Given the description of an element on the screen output the (x, y) to click on. 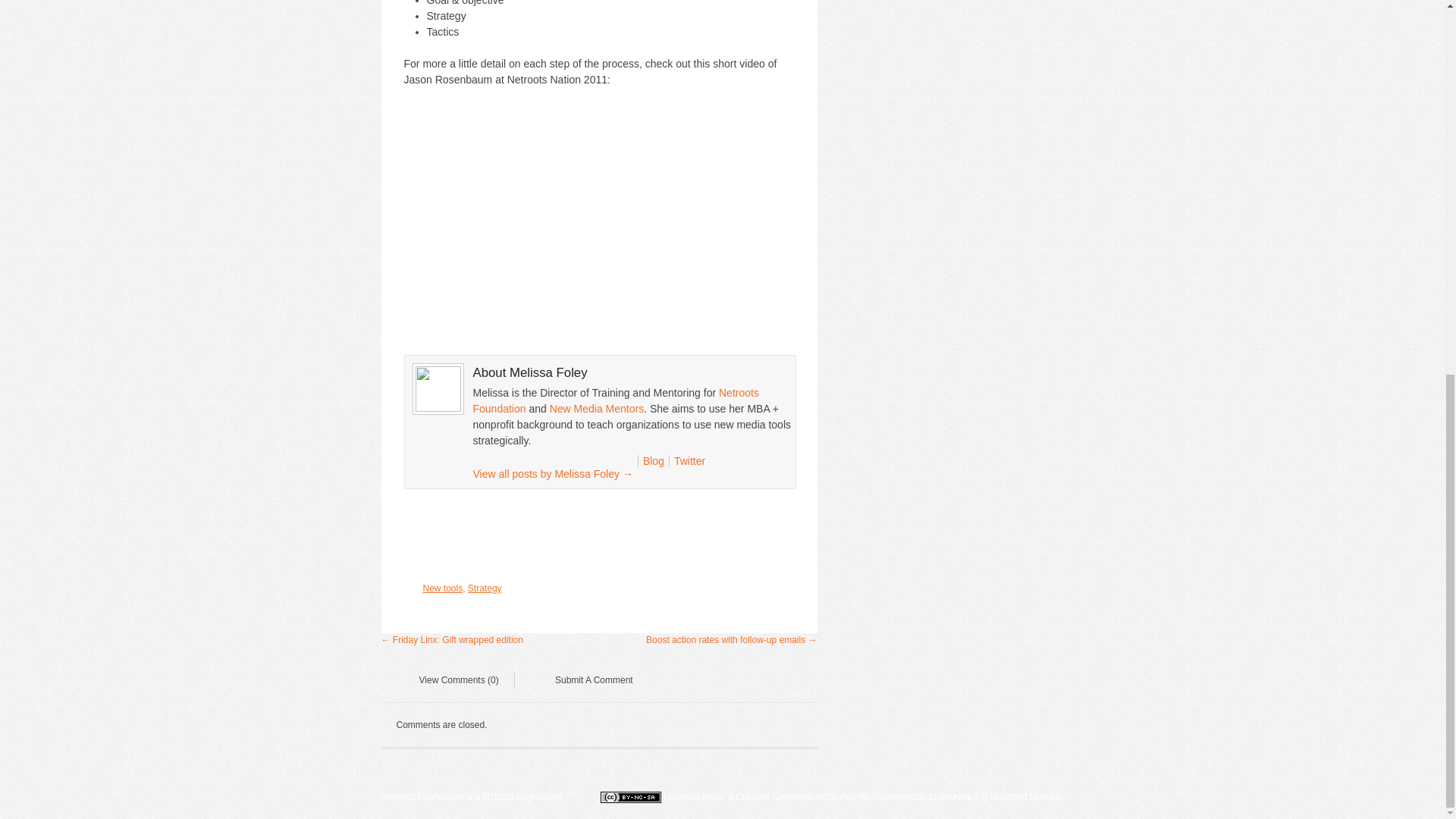
New tools (443, 588)
Submit A Comment (581, 681)
New Media Mentors (597, 408)
Blog (653, 460)
Strategy (484, 588)
Twitter (689, 460)
Netroots Foundation (615, 400)
Follow Melissa Foley on Twitter (689, 460)
